Given the description of an element on the screen output the (x, y) to click on. 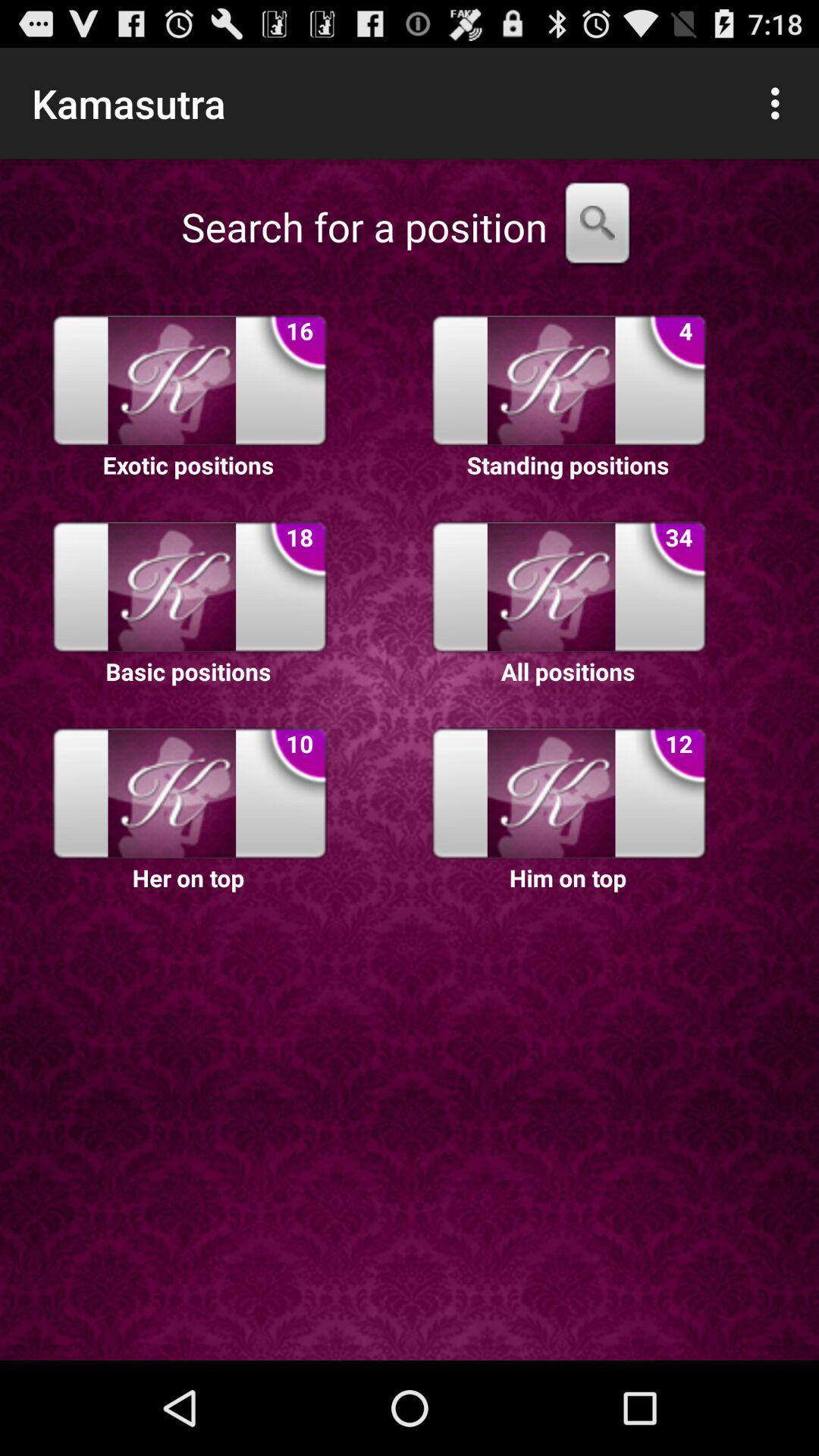
press the item next to search for a icon (597, 226)
